Given the description of an element on the screen output the (x, y) to click on. 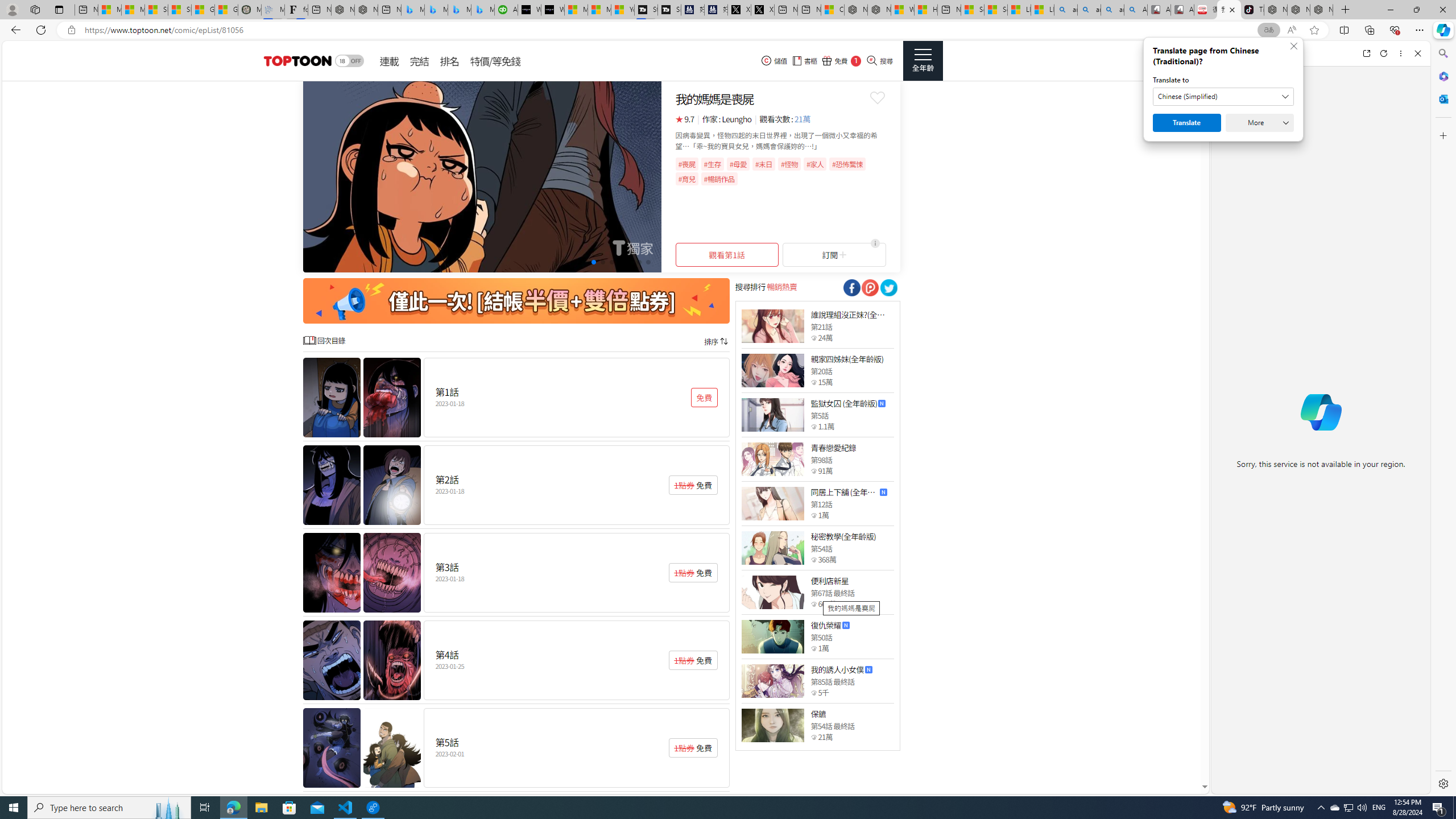
Class:  switch_18mode actionAdultBtn (349, 60)
More (1259, 122)
All Cubot phones (1182, 9)
header (295, 60)
Translate (1187, 122)
